Given the description of an element on the screen output the (x, y) to click on. 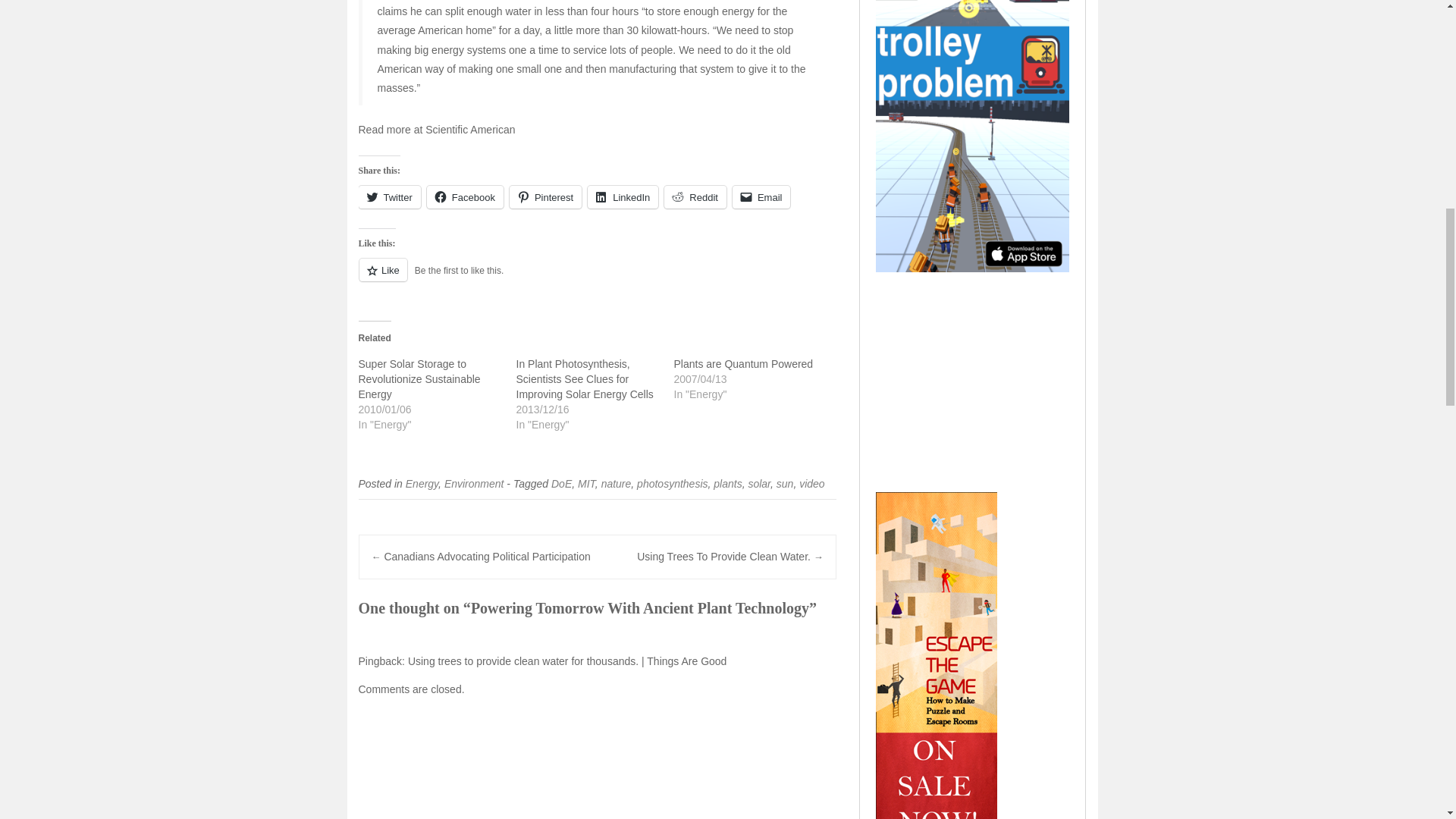
solar (759, 483)
Click to share on Facebook (464, 196)
Environment (473, 483)
Click to share on Reddit (694, 196)
Email (761, 196)
DoE (561, 483)
plants (727, 483)
Twitter (389, 196)
Click to share on LinkedIn (623, 196)
Click to share on Twitter (389, 196)
video (811, 483)
Like or Reblog (596, 278)
Click to email a link to a friend (761, 196)
photosynthesis (672, 483)
